Given the description of an element on the screen output the (x, y) to click on. 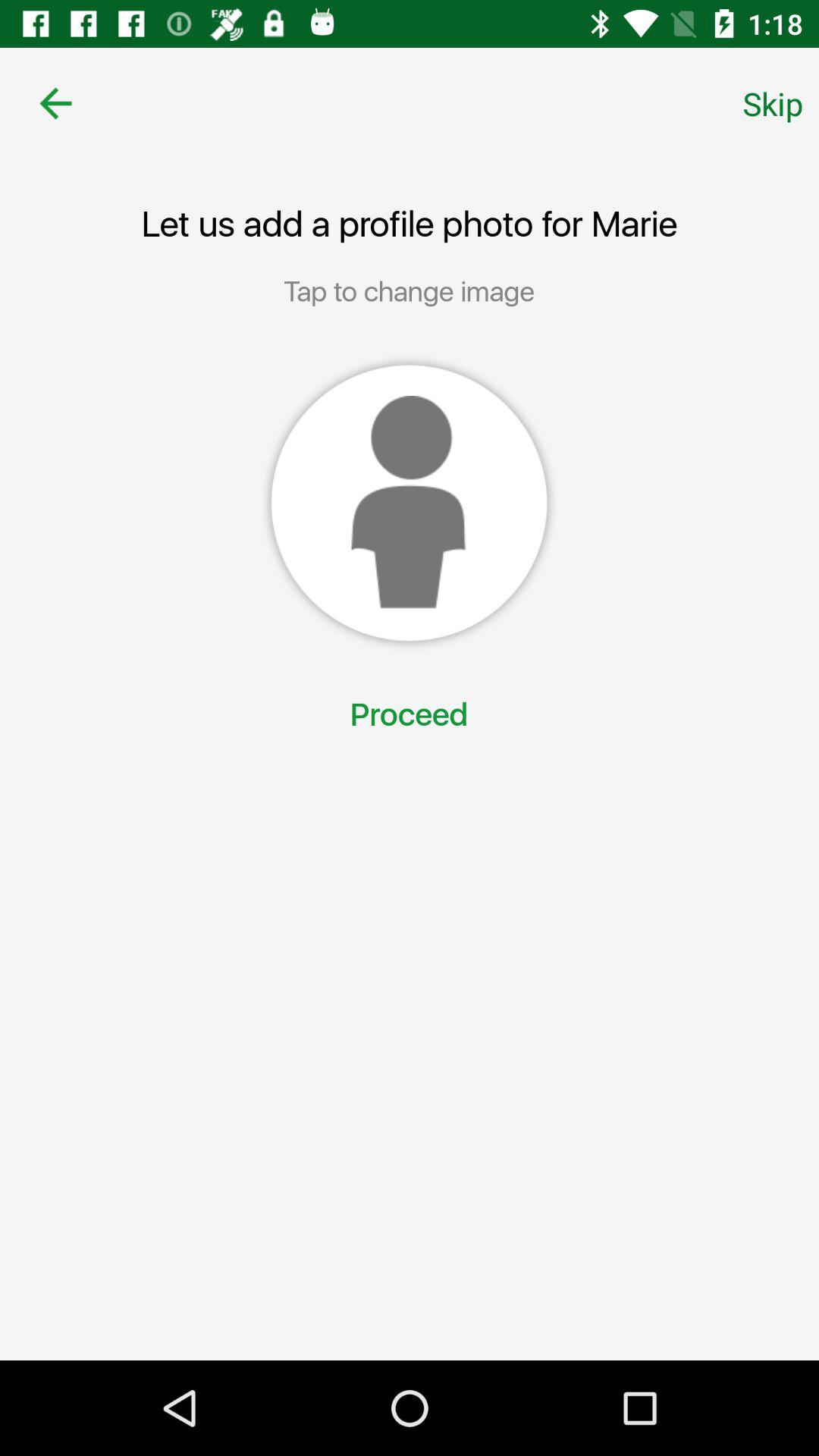
turn off item at the top right corner (772, 103)
